Given the description of an element on the screen output the (x, y) to click on. 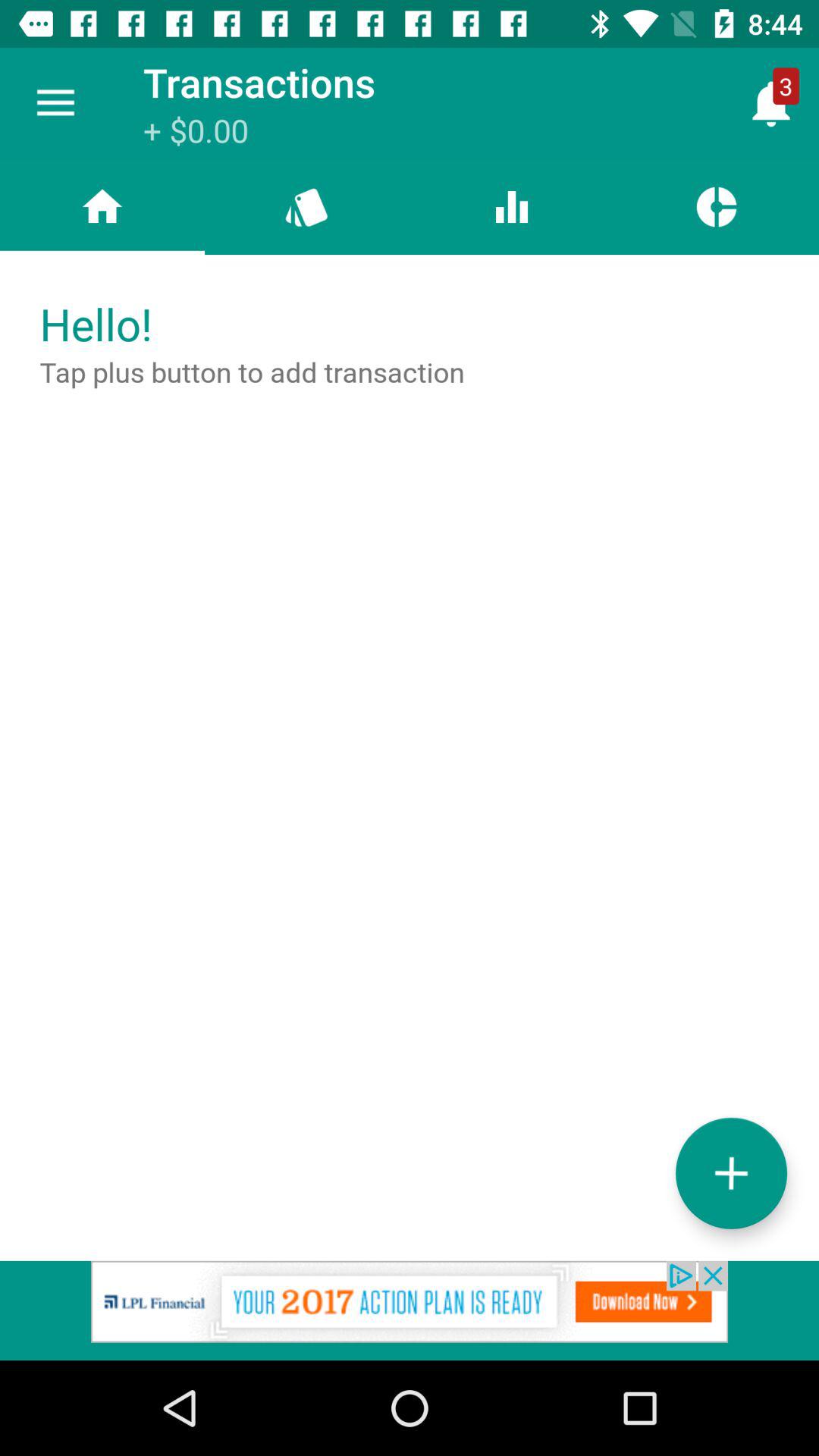
remove add (409, 1310)
